Given the description of an element on the screen output the (x, y) to click on. 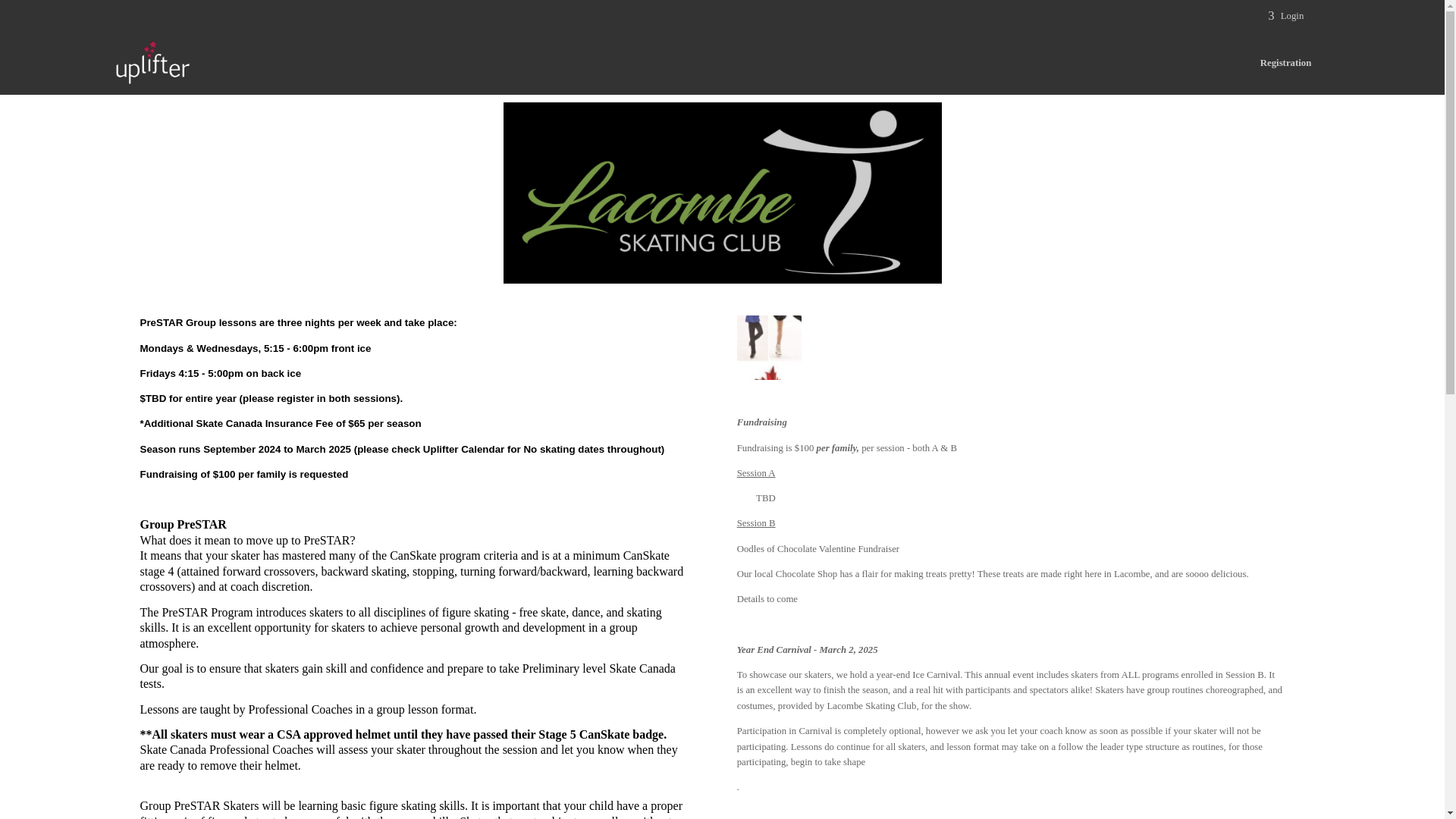
Lacombe Skating Club powered by Uplifter (152, 61)
Registration (1286, 62)
Login (1285, 15)
Login (1285, 15)
Registration (1286, 62)
